Given the description of an element on the screen output the (x, y) to click on. 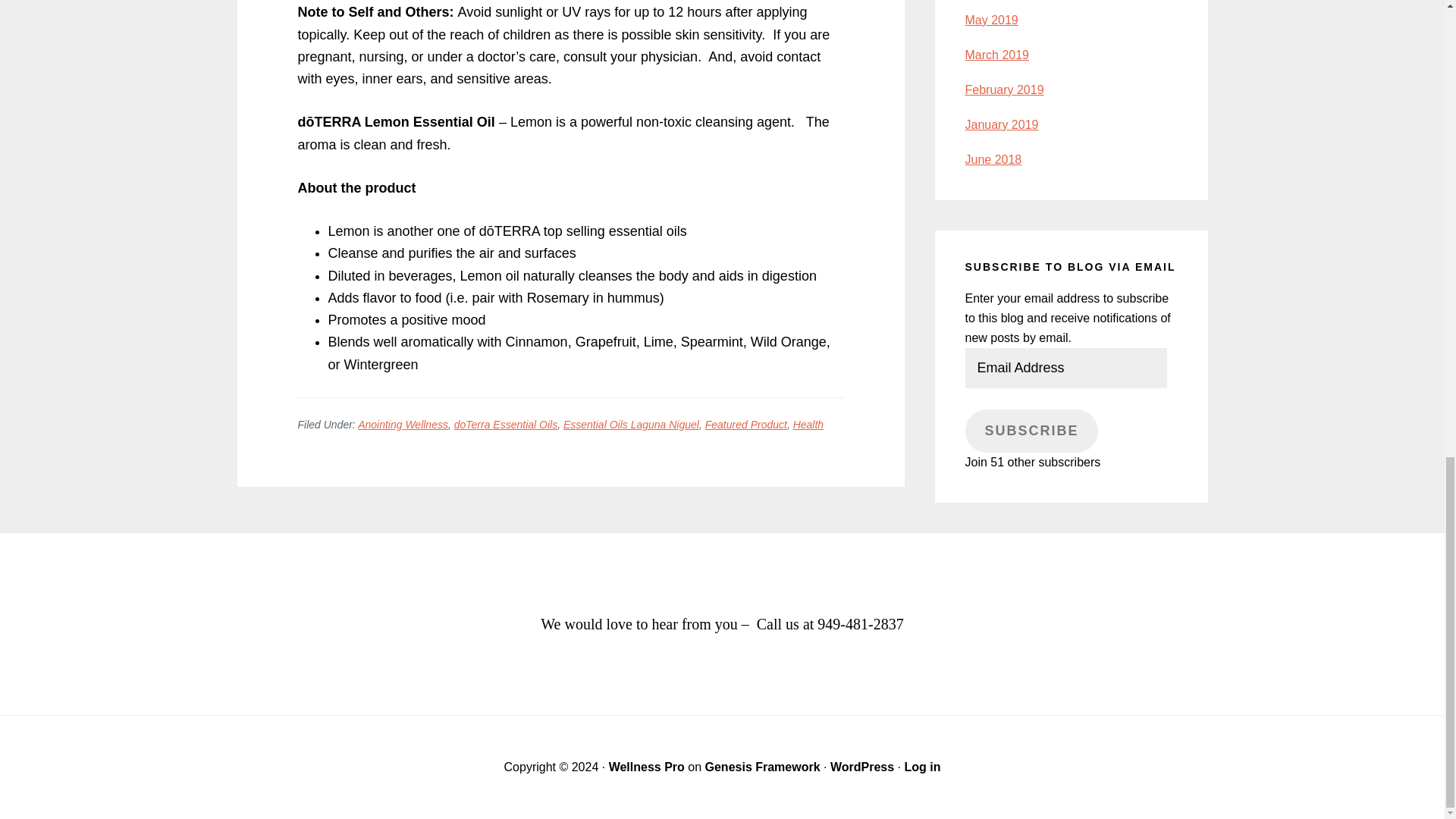
doTerra Essential Oils (505, 424)
Anointing Wellness (403, 424)
Essential Oils Laguna Niguel (630, 424)
Health (808, 424)
Featured Product (745, 424)
